Given the description of an element on the screen output the (x, y) to click on. 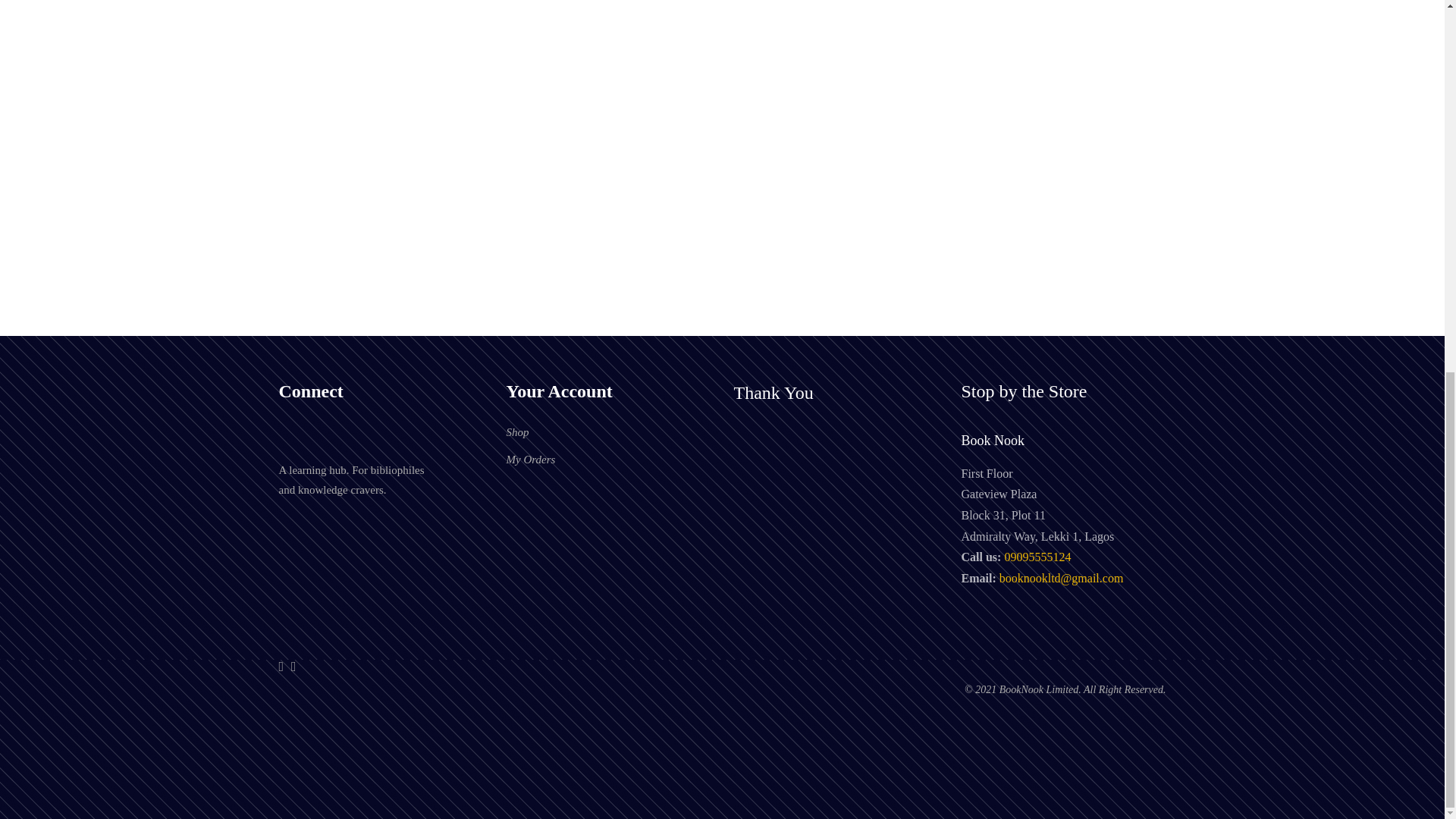
Shop (517, 432)
My Orders (531, 459)
09095555124 (1037, 556)
